Given the description of an element on the screen output the (x, y) to click on. 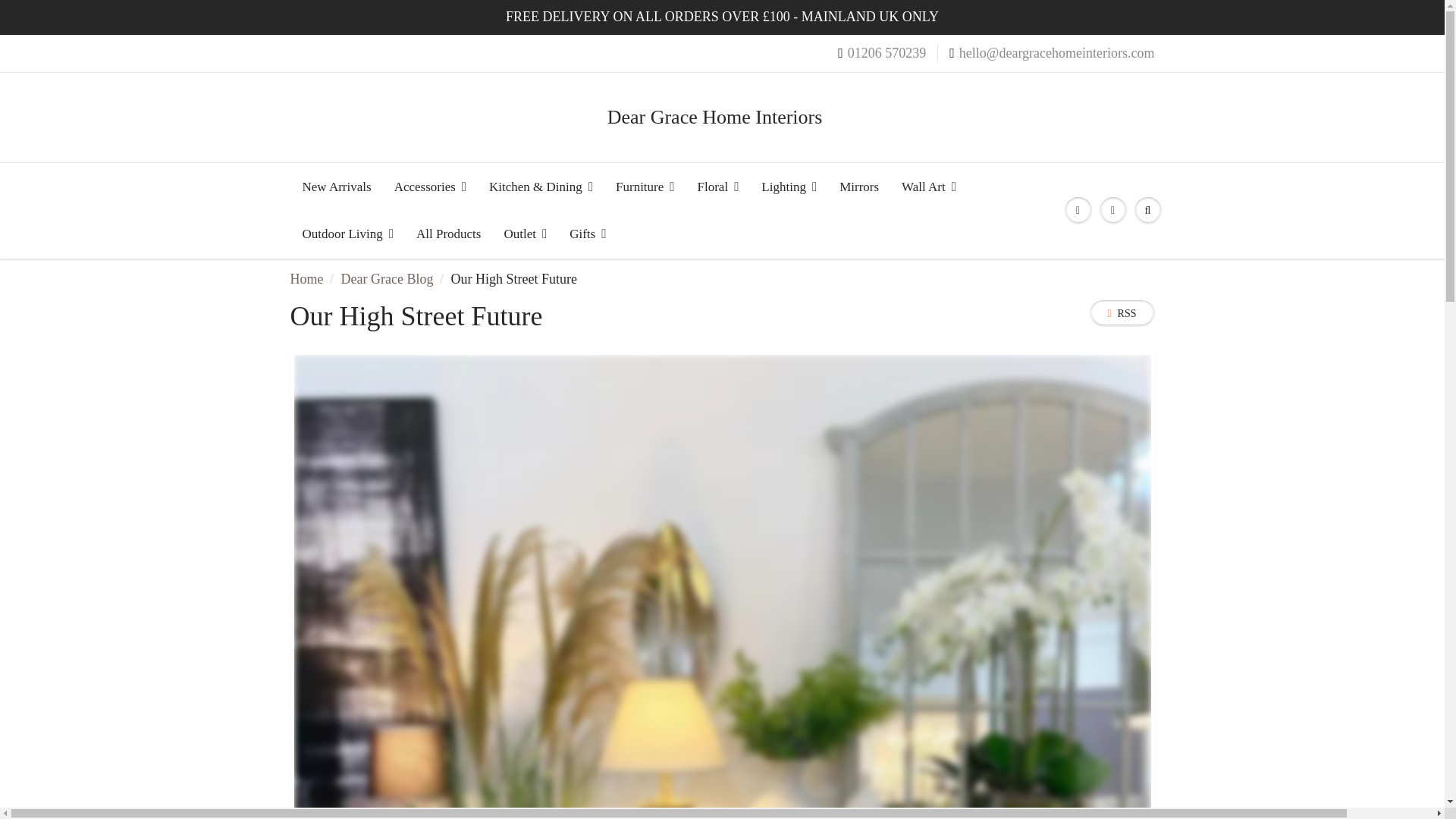
Home (306, 278)
New Arrivals (336, 186)
Accessories (429, 186)
01206 570239 (882, 53)
Dear Grace Home Interiors (722, 116)
